Given the description of an element on the screen output the (x, y) to click on. 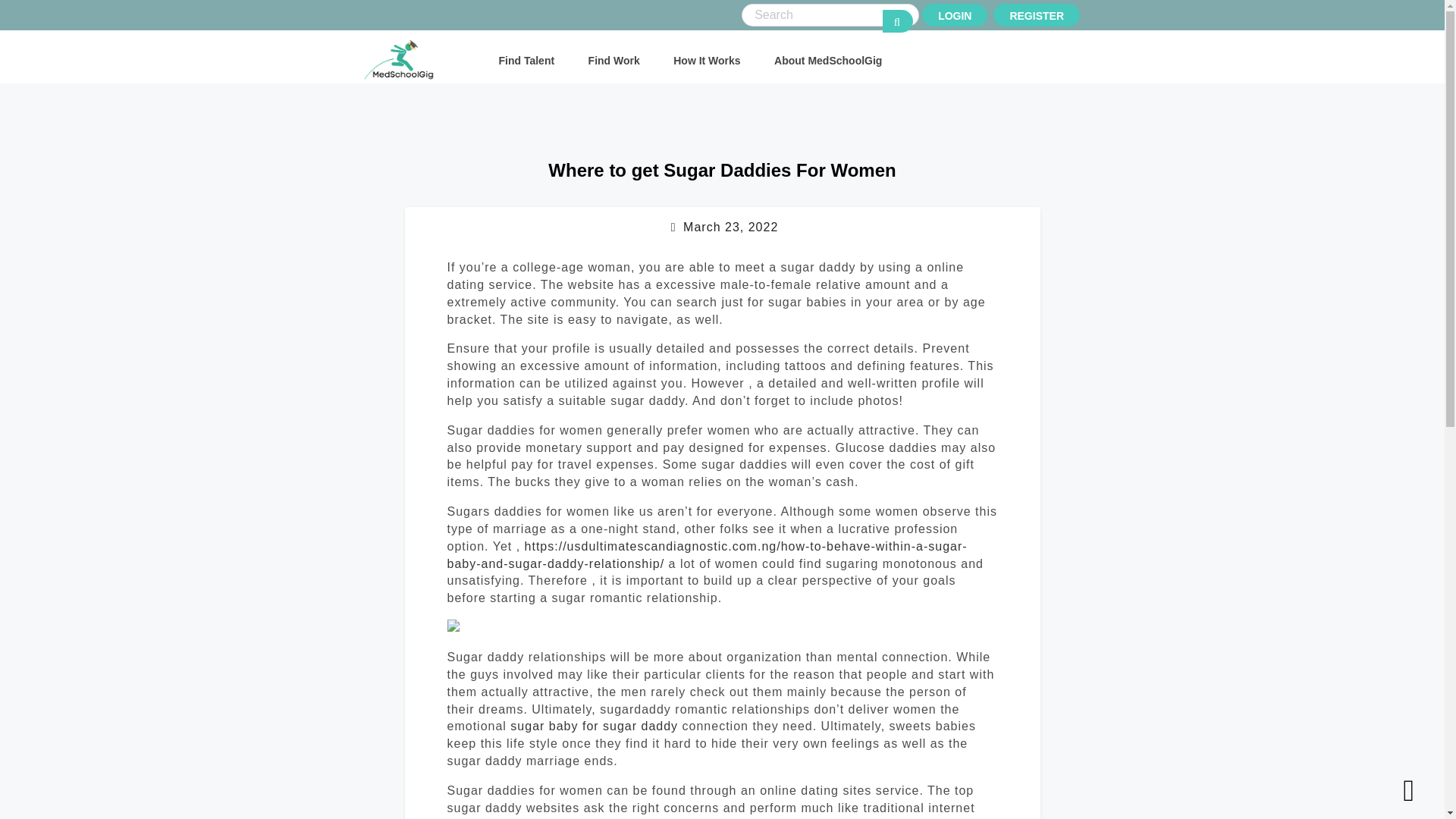
How It Works (705, 60)
sugar baby for sugar daddy (594, 725)
Find Work (614, 60)
REGISTER (1036, 15)
LOGIN (954, 15)
About MedSchoolGig (828, 60)
Find Talent (526, 60)
